Given the description of an element on the screen output the (x, y) to click on. 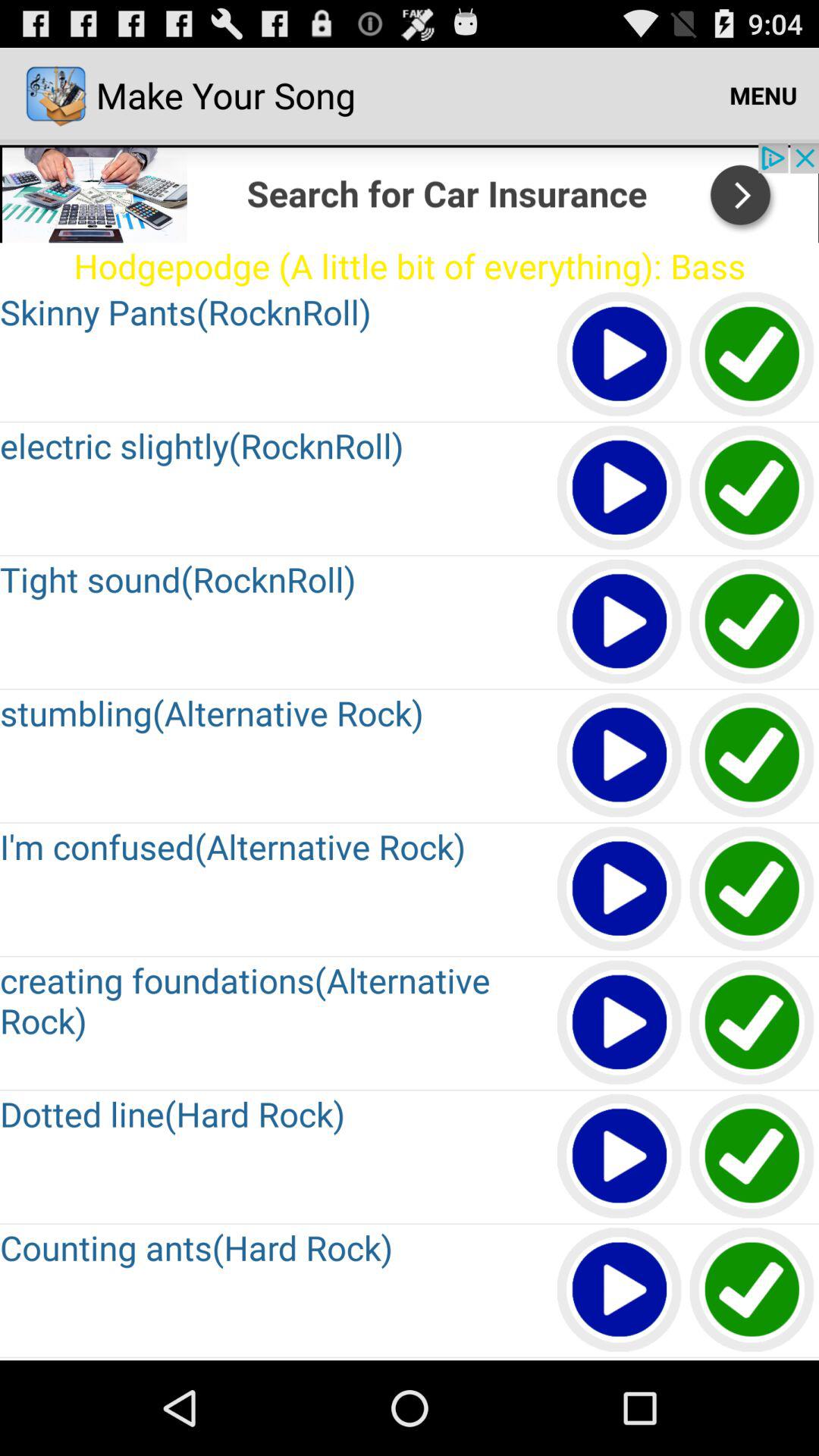
click to play option (619, 1156)
